Given the description of an element on the screen output the (x, y) to click on. 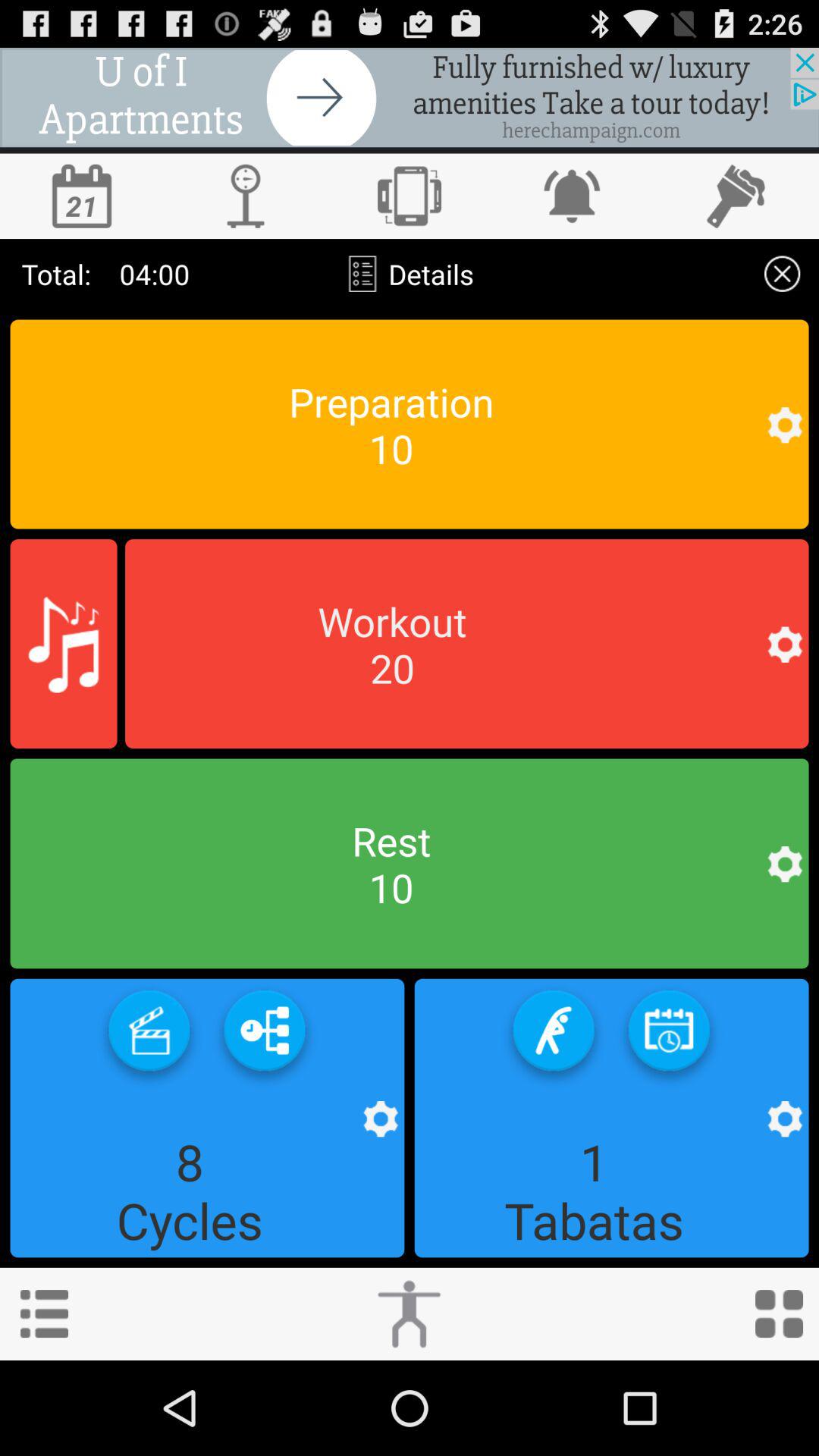
click to the more information (44, 1313)
